Given the description of an element on the screen output the (x, y) to click on. 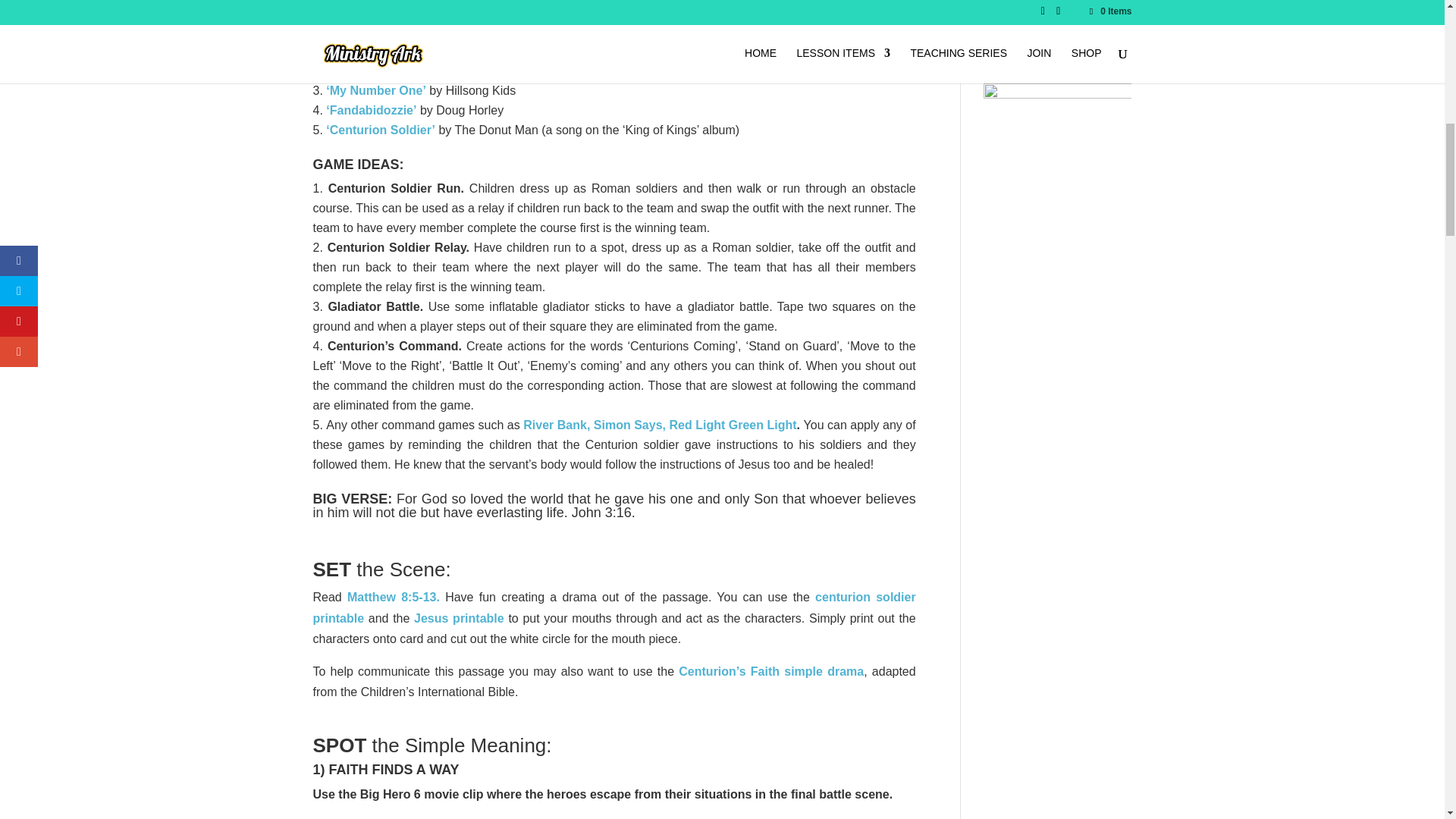
Jesus printable (458, 617)
centurion soldier printable (614, 607)
River Bank, (555, 424)
Simon Says, (629, 424)
Red Light Green Light (730, 424)
Matthew 8:5-13. (393, 596)
